Given the description of an element on the screen output the (x, y) to click on. 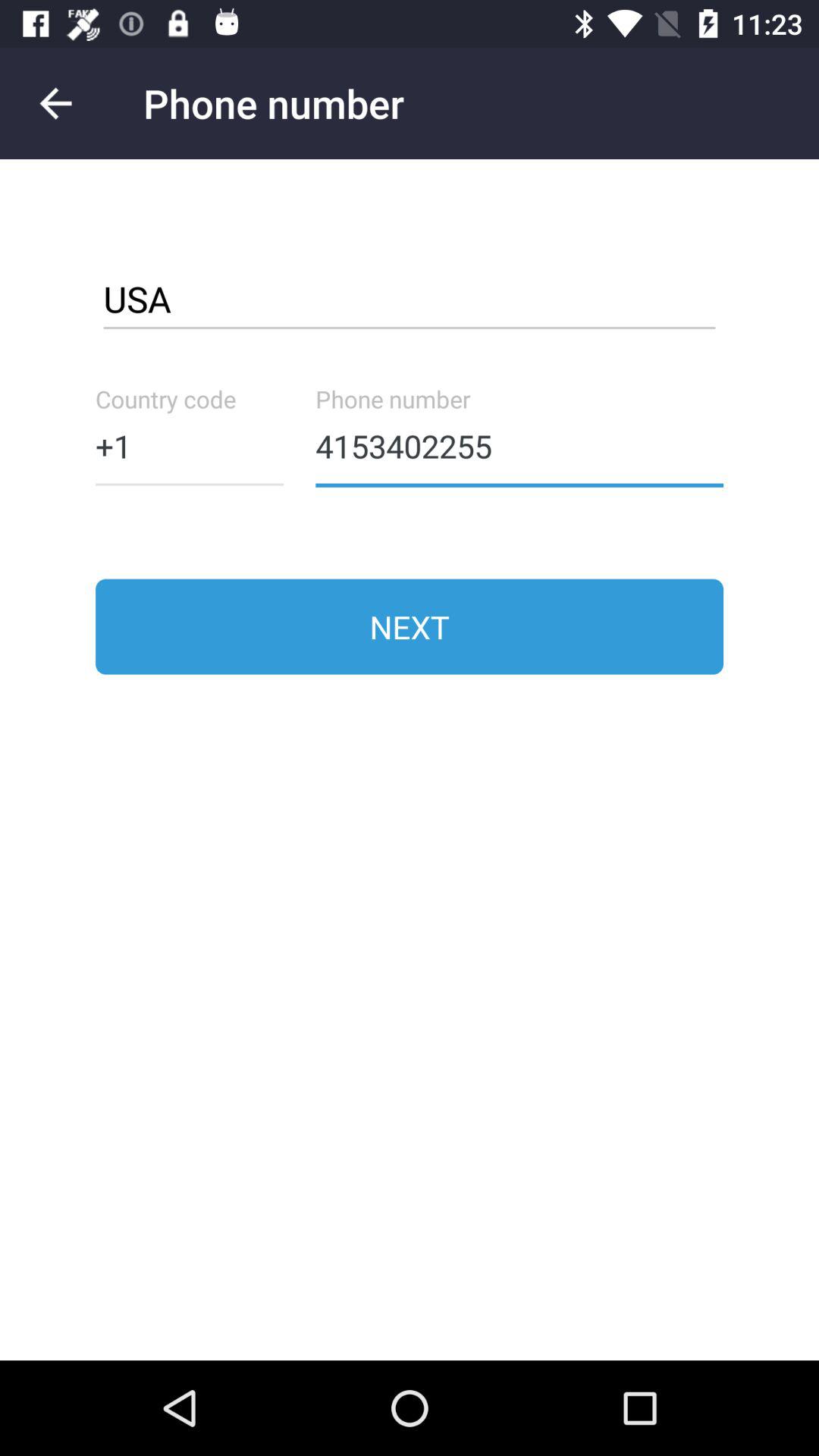
go back (55, 103)
